Given the description of an element on the screen output the (x, y) to click on. 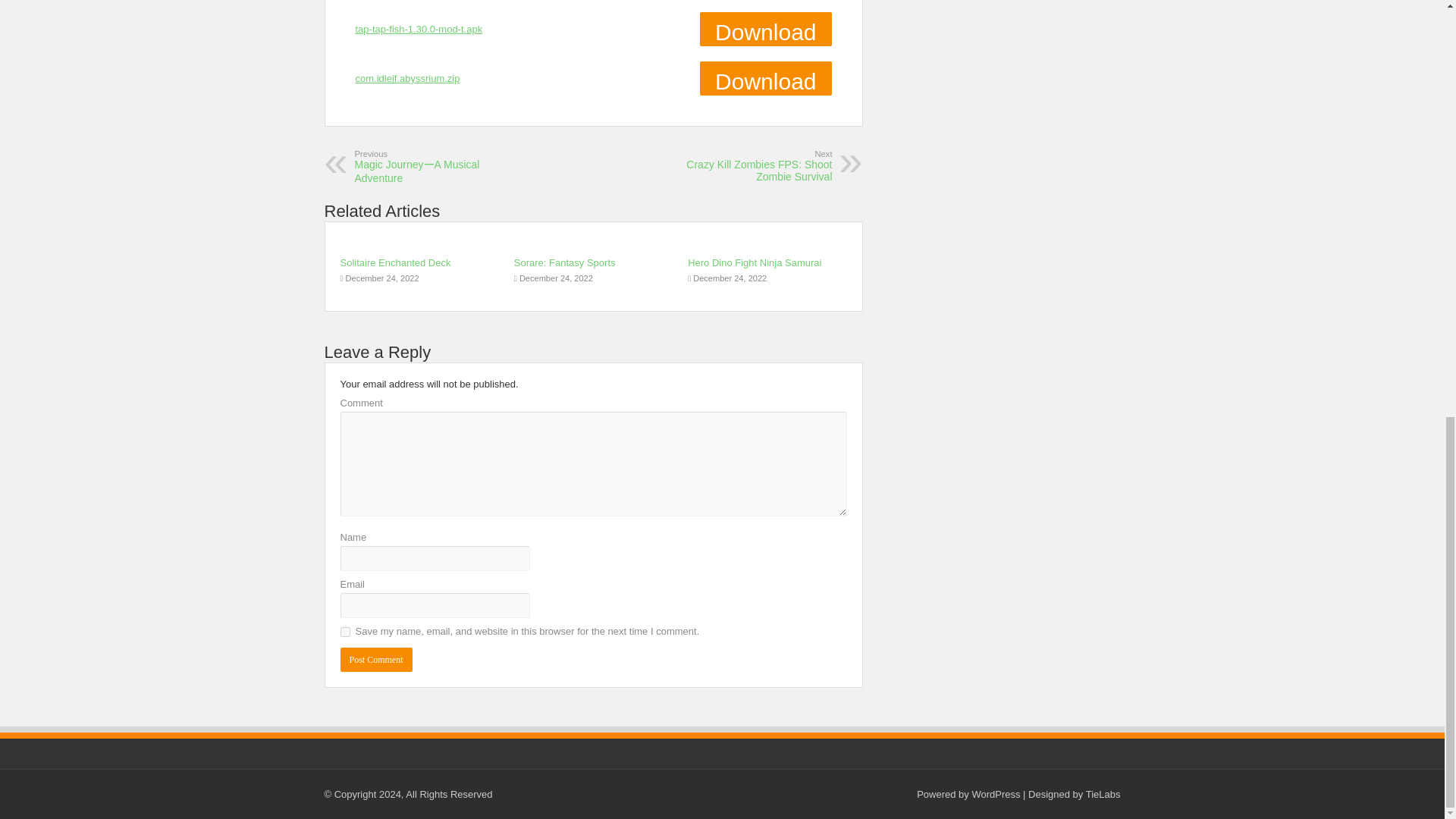
Scroll To Top (1421, 28)
tap-tap-fish-1.30.0-mod-t.apk (754, 165)
Solitaire Enchanted Deck (418, 29)
Post Comment (394, 262)
Download (375, 659)
com.idleif.abyssrium.zip (765, 78)
Hero Dino Fight Ninja Samurai (407, 78)
Sorare: Fantasy Sports (754, 262)
Download (564, 262)
